Given the description of an element on the screen output the (x, y) to click on. 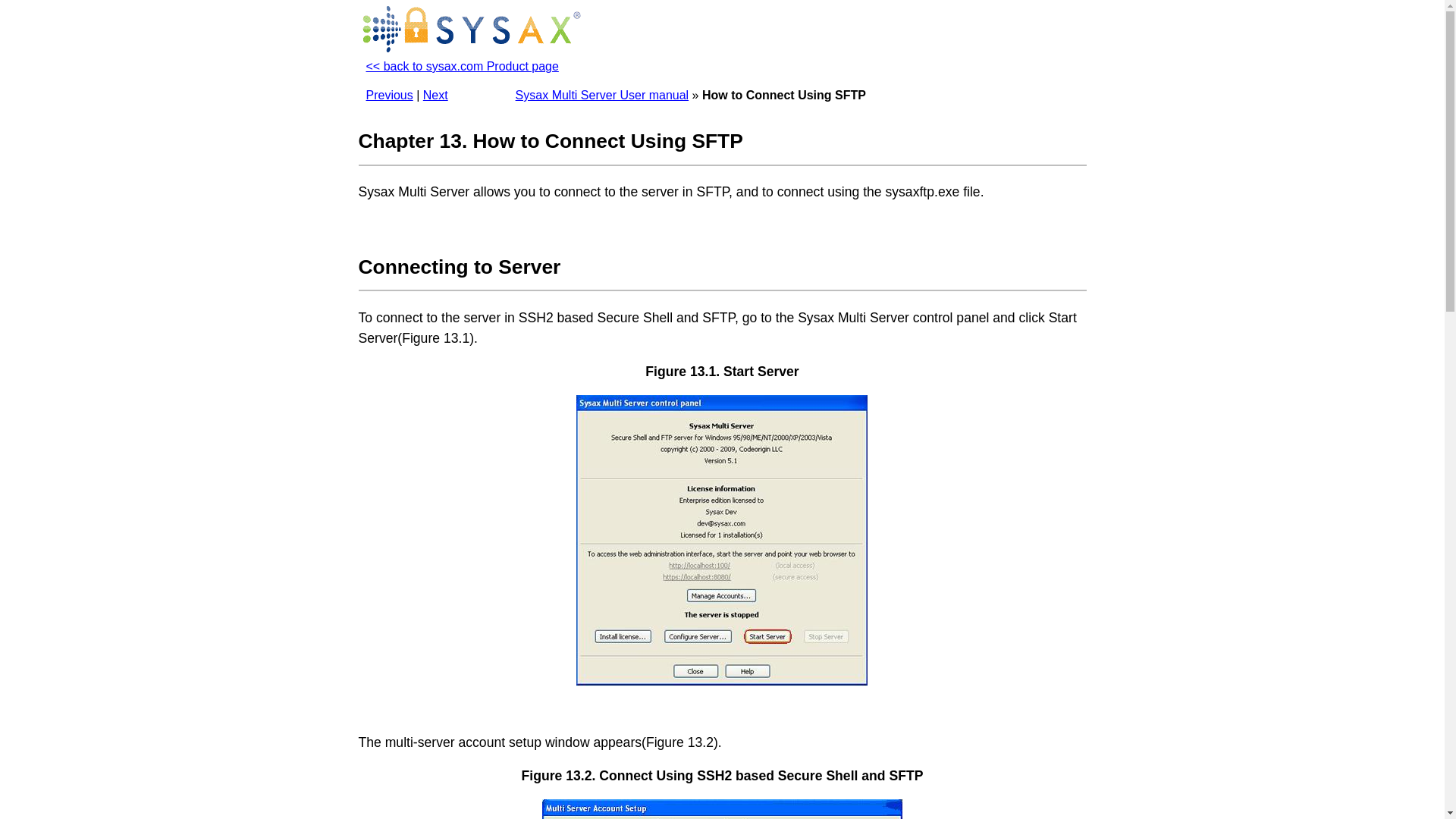
Sysax Multi Server User manual (601, 94)
Next (435, 94)
Previous (388, 94)
